Given the description of an element on the screen output the (x, y) to click on. 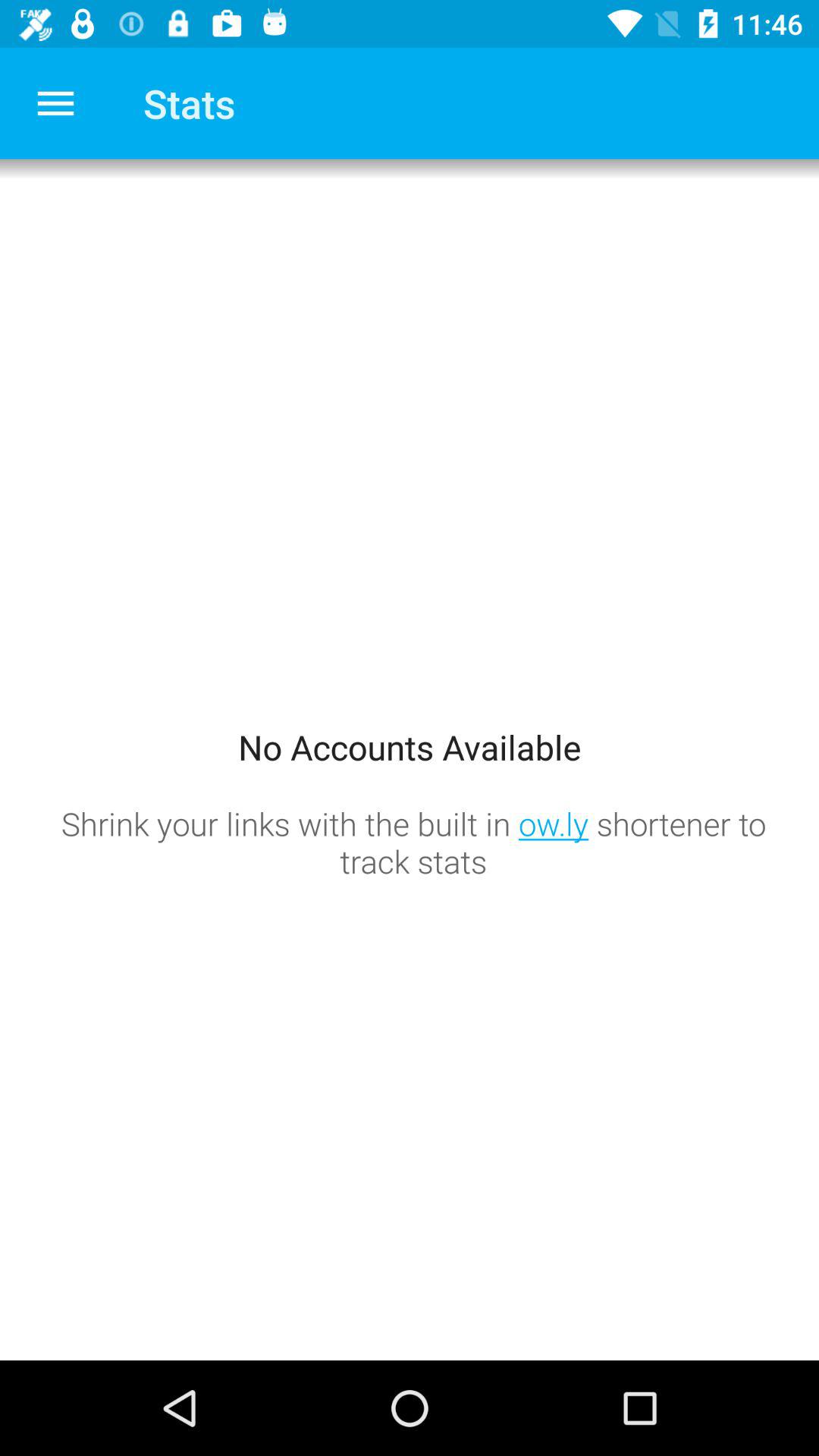
tap item below no accounts available (413, 841)
